Given the description of an element on the screen output the (x, y) to click on. 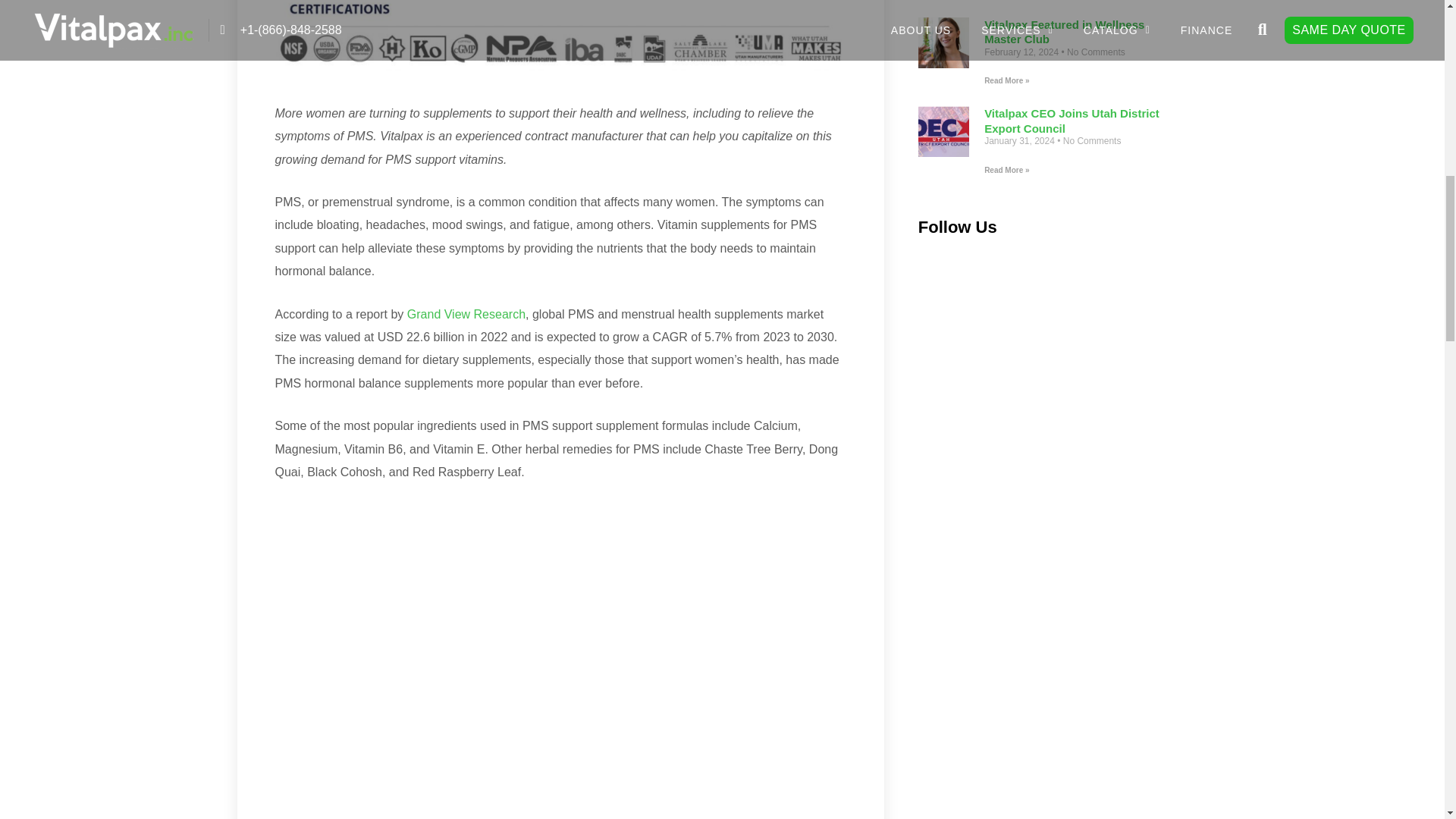
Grand View Research (466, 314)
